Given the description of an element on the screen output the (x, y) to click on. 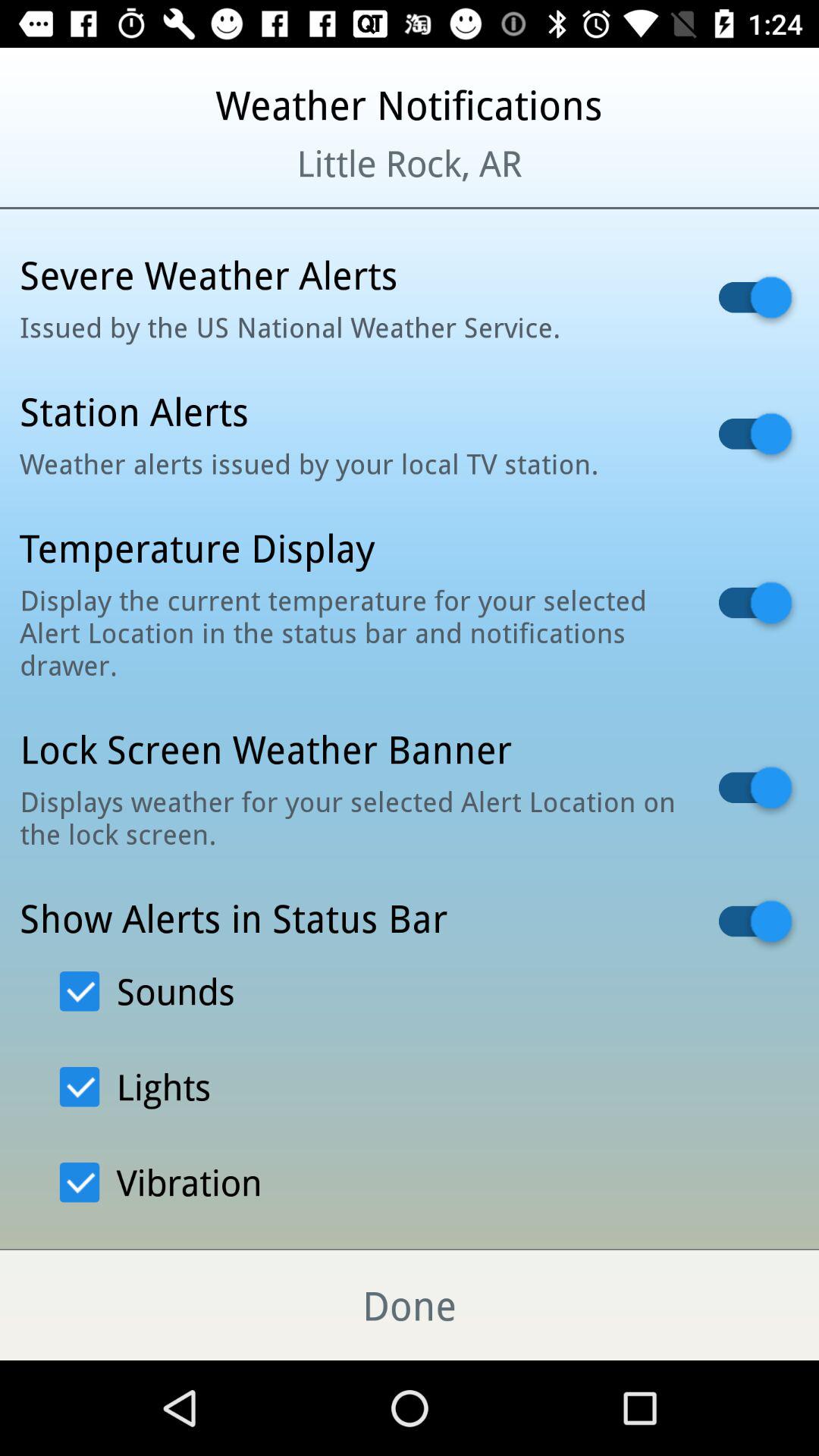
tap display the current item (349, 632)
